Given the description of an element on the screen output the (x, y) to click on. 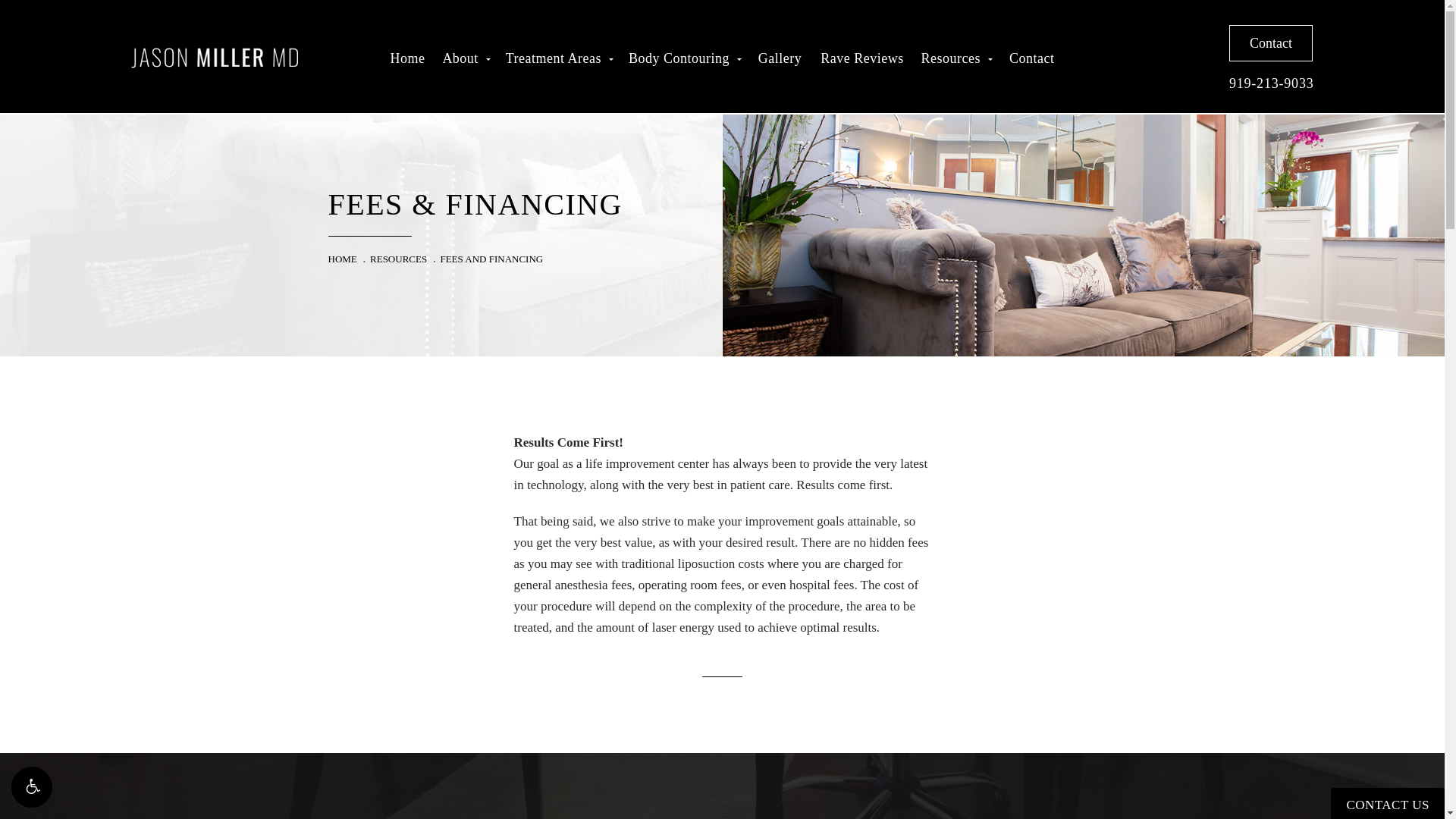
About (465, 58)
Treatment Areas (558, 58)
Body Contouring (684, 58)
Home (406, 58)
Gallery (779, 58)
